Given the description of an element on the screen output the (x, y) to click on. 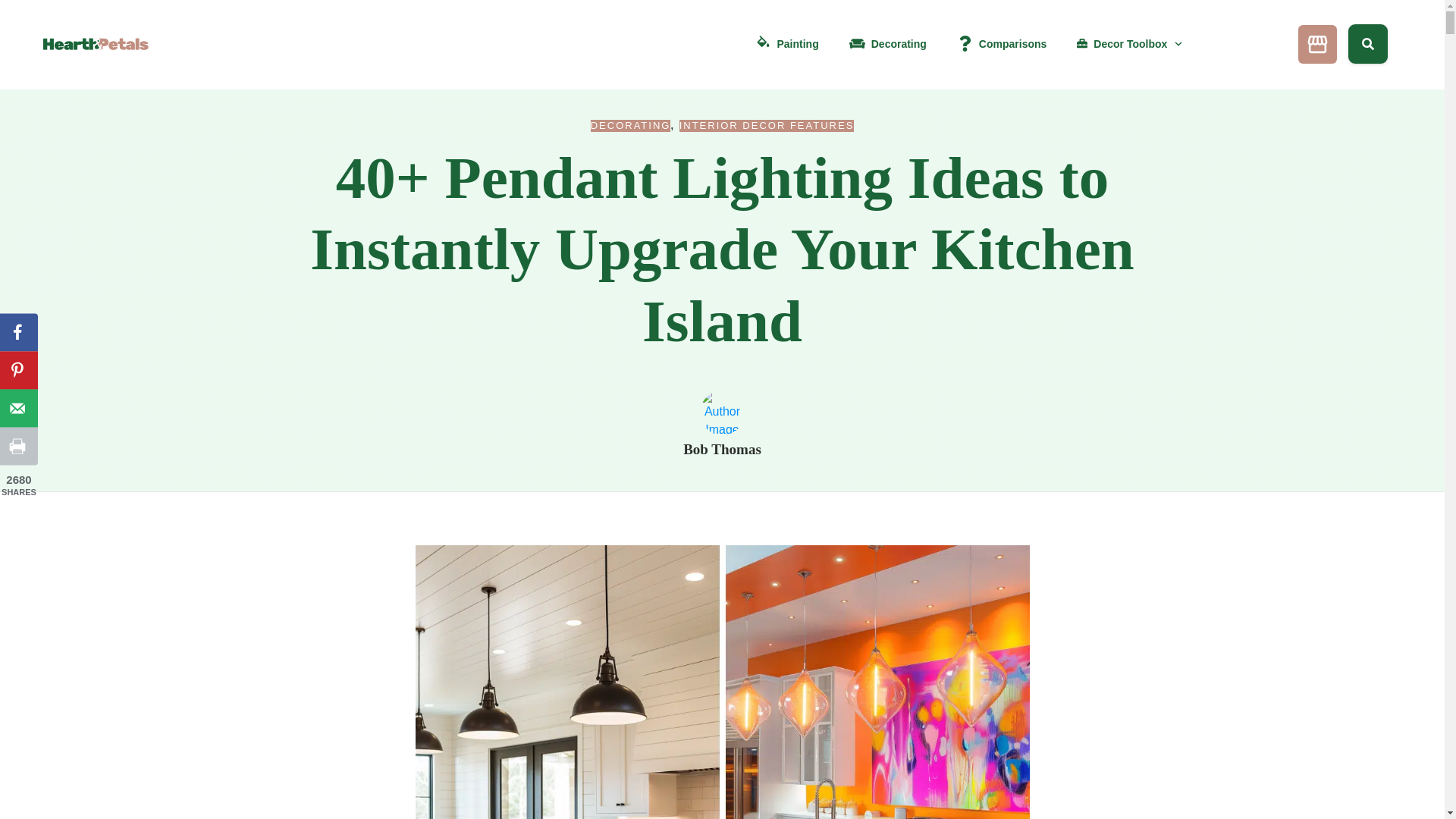
Painting (786, 43)
Decorating (631, 125)
Decor Toolbox (1130, 43)
Interior Decor Features (766, 125)
Decorating (887, 43)
Comparisons (1001, 43)
undefined (722, 412)
DECORATING (631, 125)
INTERIOR DECOR FEATURES (766, 125)
